Given the description of an element on the screen output the (x, y) to click on. 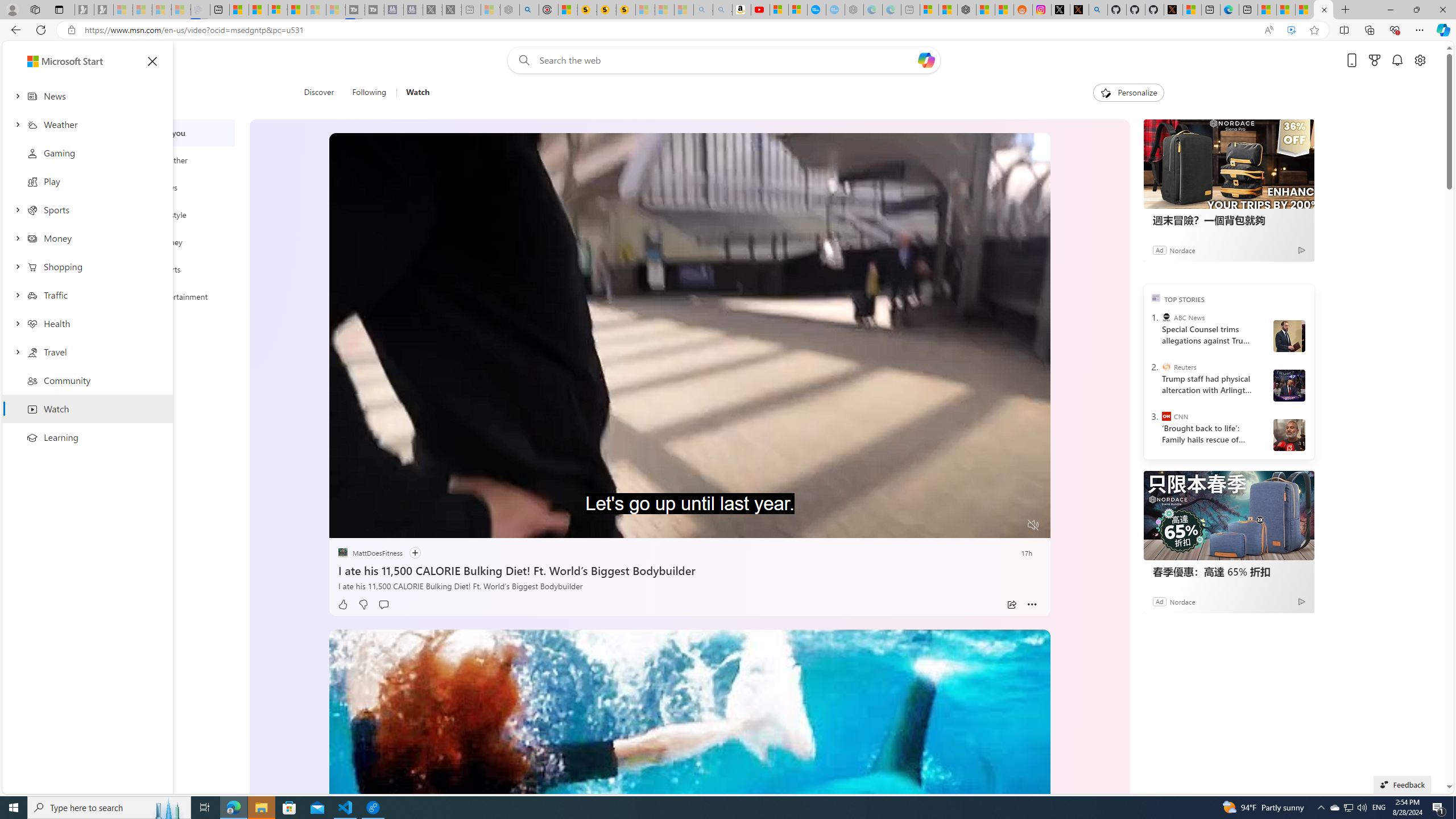
Fullscreen (1011, 525)
Seek Forward (391, 525)
Shanghai, China Weather trends | Microsoft Weather (1004, 9)
